Given the description of an element on the screen output the (x, y) to click on. 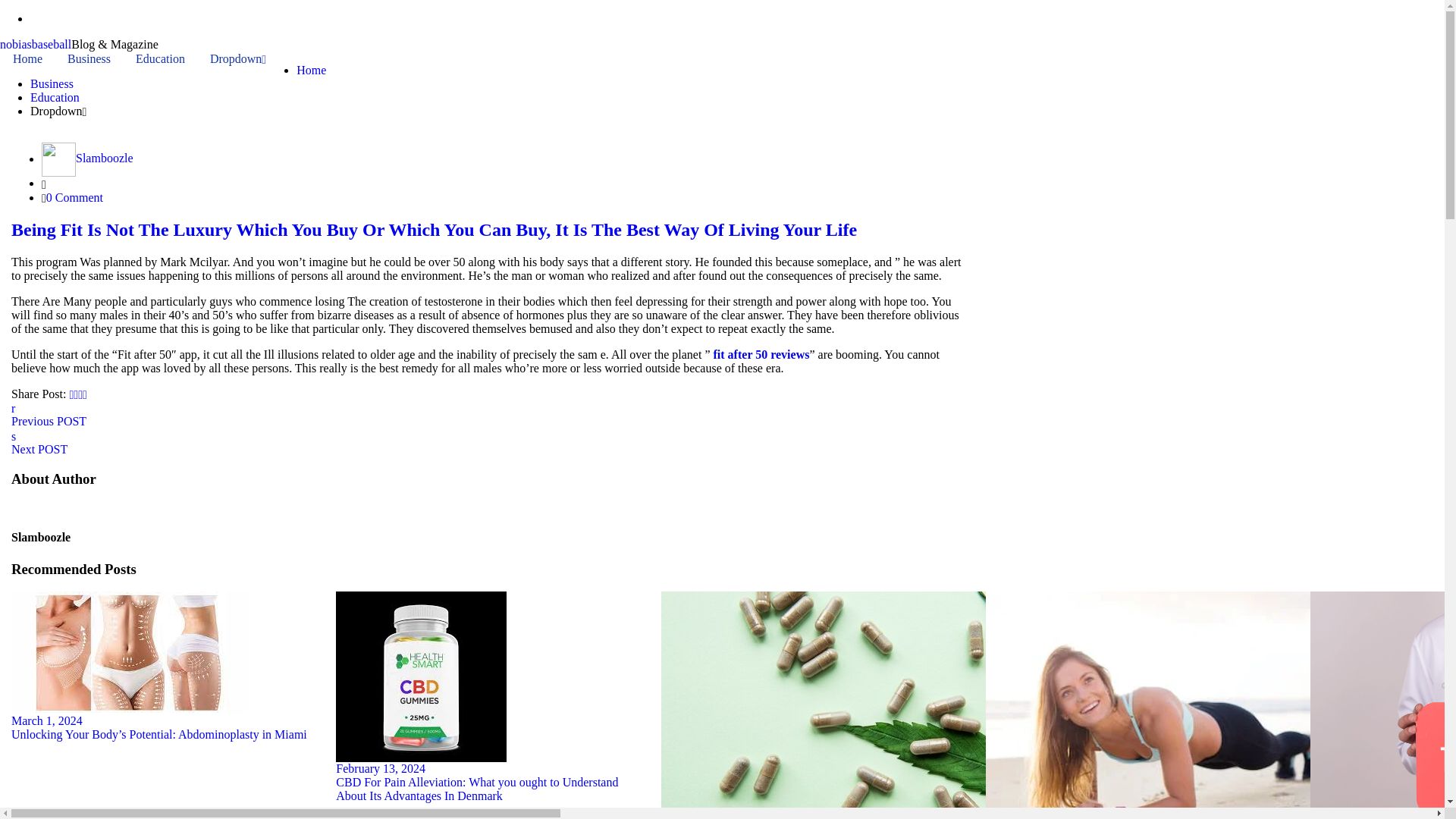
Education (55, 97)
Slamboozle (104, 157)
Home (311, 69)
fit after 50 reviews (761, 354)
Business (52, 83)
Next POST (488, 441)
nobiasbaseball (35, 43)
0 Comment (74, 196)
Previous POST (488, 414)
